Given the description of an element on the screen output the (x, y) to click on. 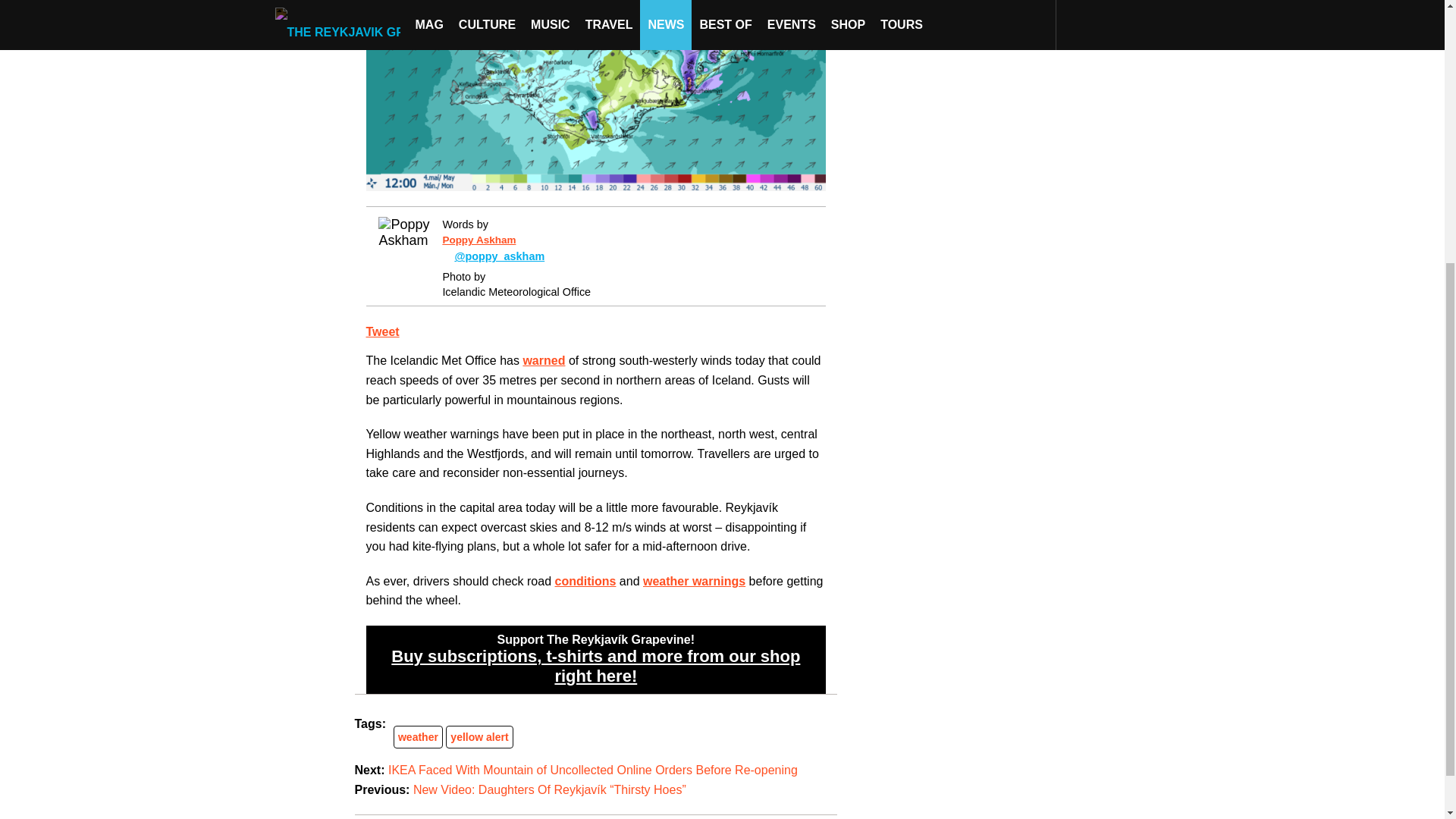
Poppy Askham (478, 239)
warned (543, 359)
Posts by Poppy Askham (478, 239)
Tweet (381, 331)
weather warnings (694, 581)
weather (417, 736)
yellow alert (478, 736)
conditions (584, 581)
